Given the description of an element on the screen output the (x, y) to click on. 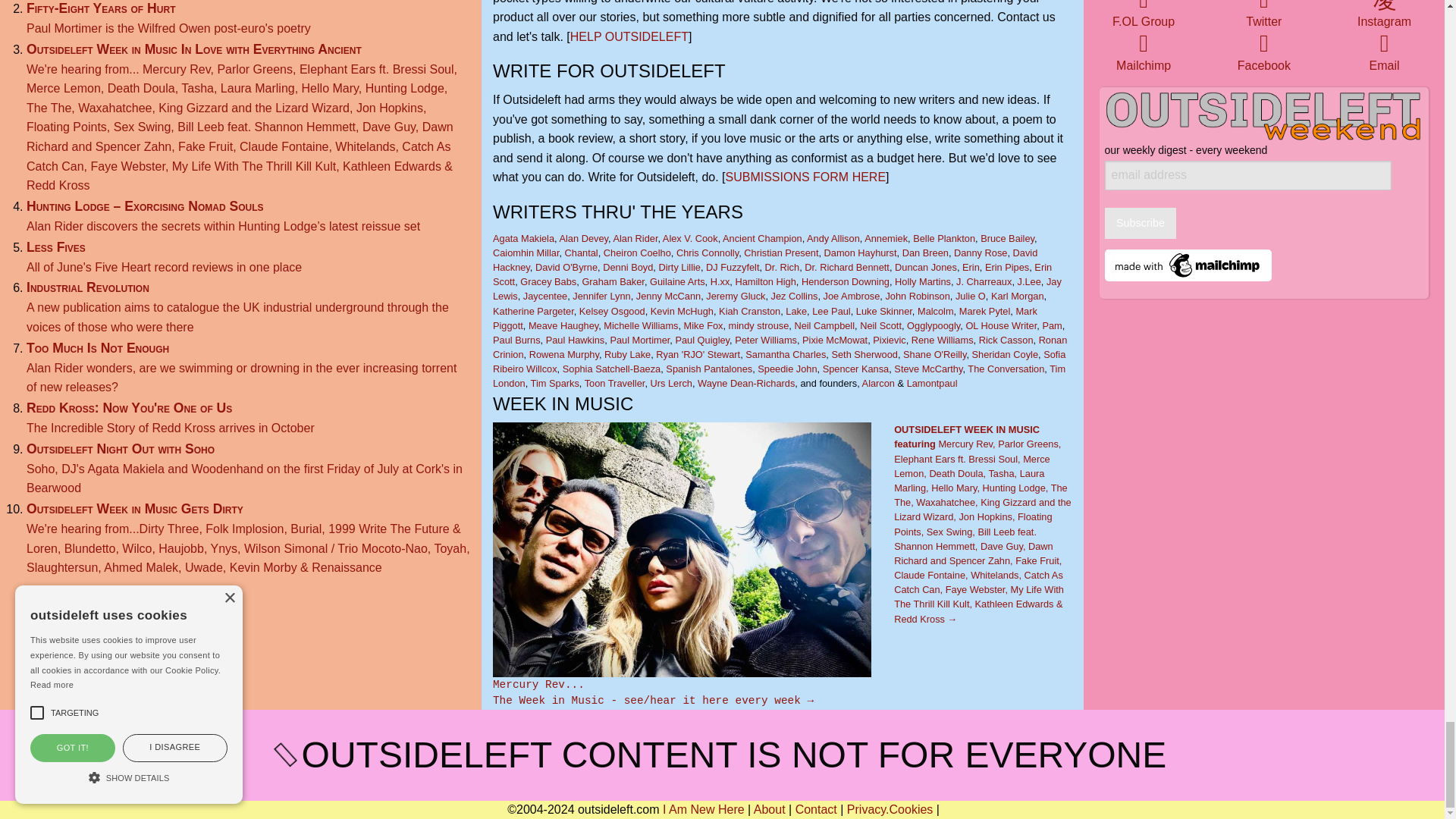
Subscribe (1140, 223)
Mailchimp - email marketing made easy and fun (1188, 265)
